Given the description of an element on the screen output the (x, y) to click on. 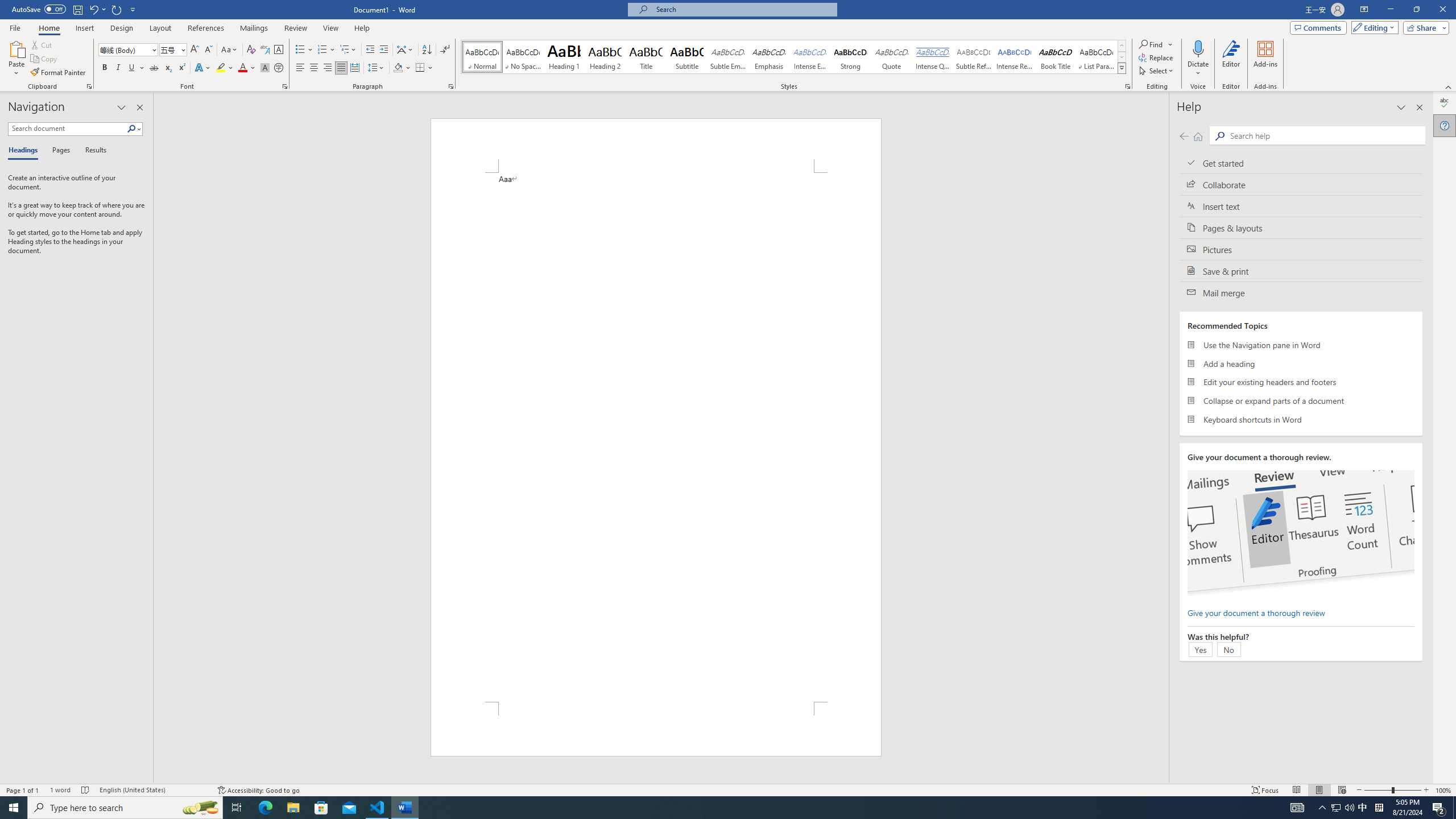
Save (77, 9)
Row up (1121, 45)
Dictate (1197, 58)
No (1228, 649)
Home (1198, 136)
Accessibility Checker Accessibility: Good to go (258, 790)
Add a heading (1300, 363)
Class: NetUIImage (1121, 68)
Strikethrough (154, 67)
Language English (United States) (152, 790)
Comments (1318, 27)
Replace... (1156, 56)
References (205, 28)
Subtitle (686, 56)
